Given the description of an element on the screen output the (x, y) to click on. 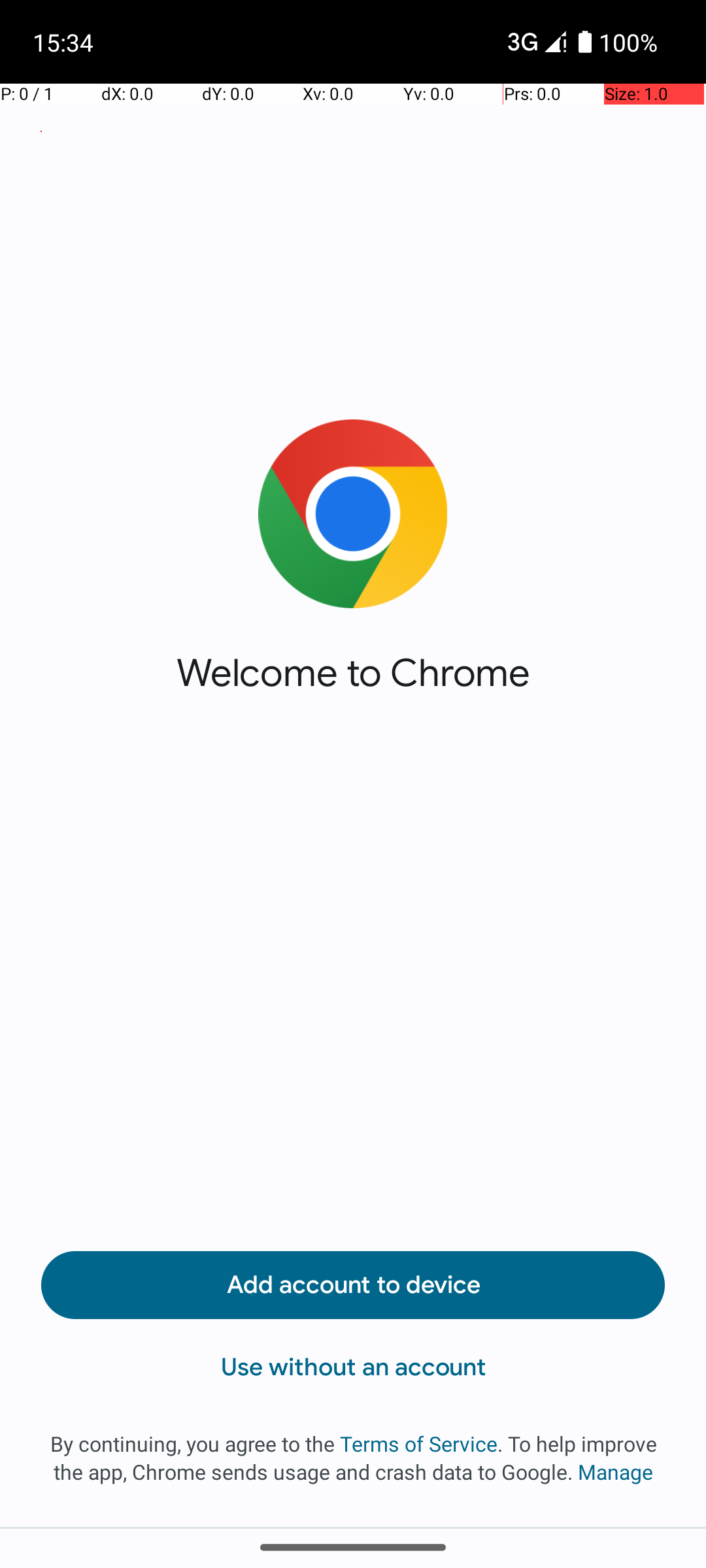
By continuing, you agree to the Terms of Service. To help improve the app, Chrome sends usage and crash data to Google. Manage Element type: android.widget.TextView (352, 1457)
Add account to device Element type: android.widget.Button (352, 1284)
Use without an account Element type: android.widget.Button (352, 1367)
